Given the description of an element on the screen output the (x, y) to click on. 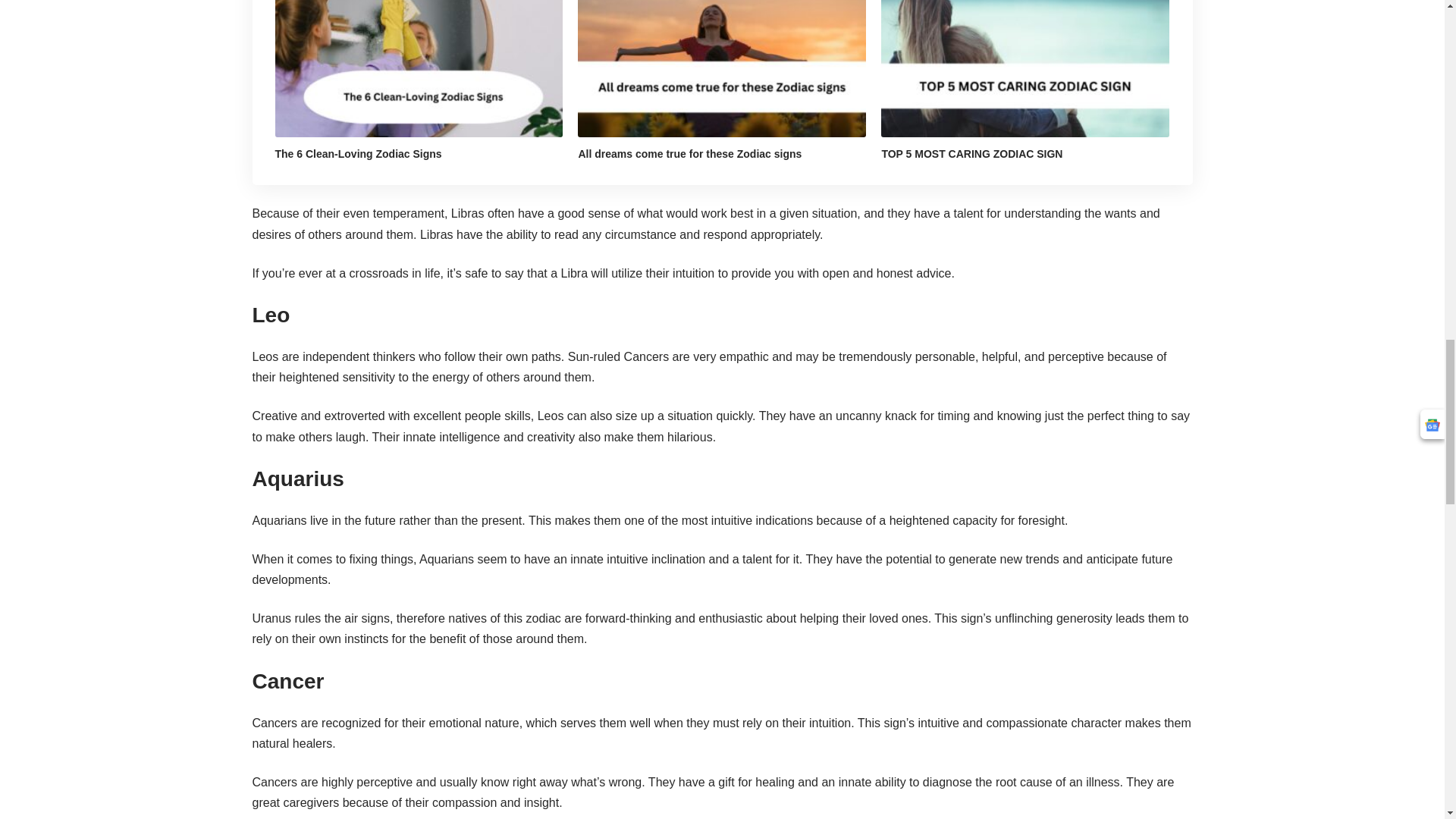
All dreams come true for these Zodiac signs (722, 68)
TOP 5 MOST CARING ZODIAC SIGN (1024, 68)
The 6 Clean-Loving Zodiac Signs (418, 68)
